Given the description of an element on the screen output the (x, y) to click on. 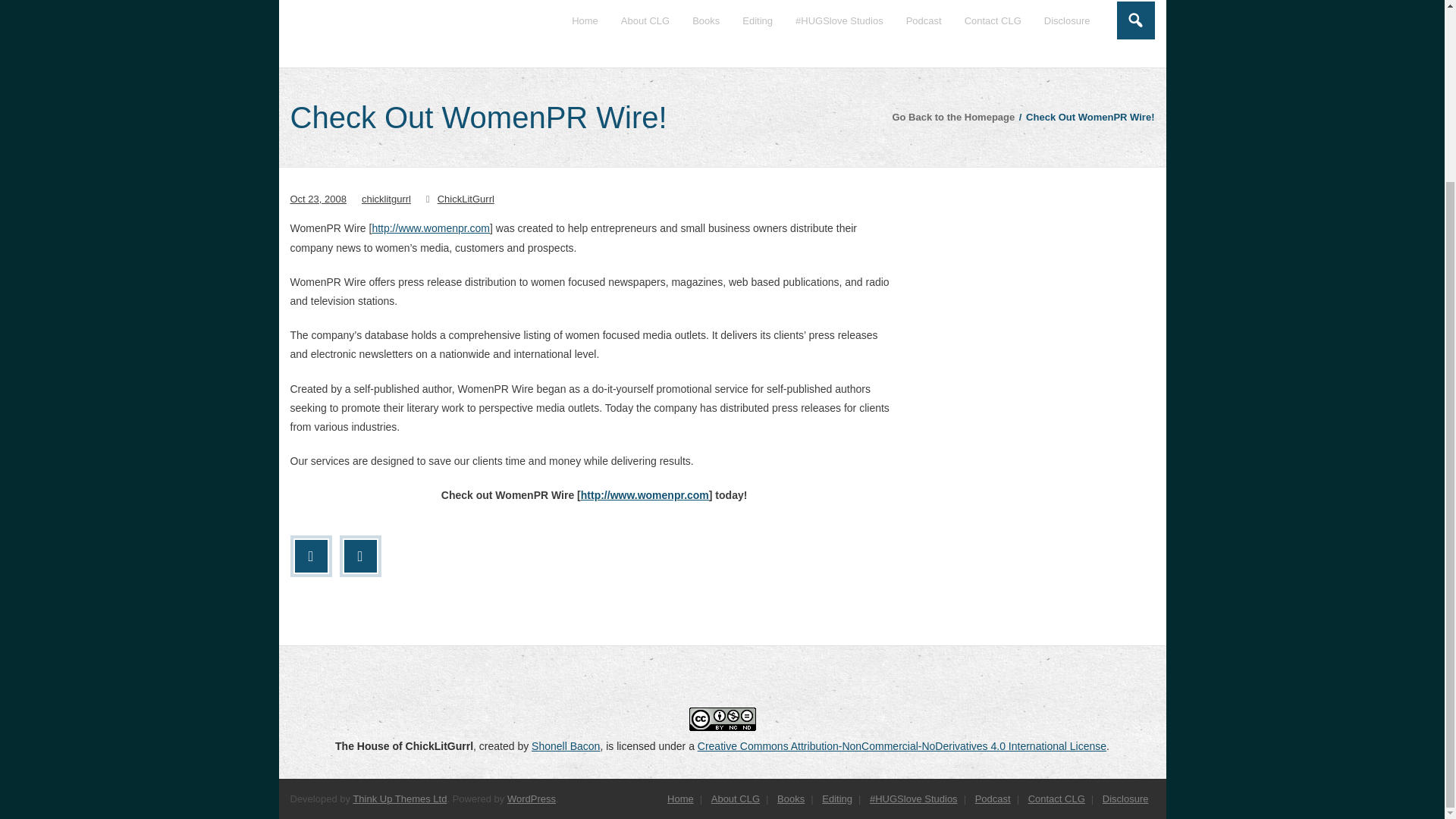
ChickLitGurrl (466, 198)
Think Up Themes Ltd (399, 798)
WordPress (531, 798)
Oct 23, 2008 (317, 198)
View all posts by chicklitgurrl (385, 198)
Books (790, 798)
About CLG (645, 33)
Home (680, 798)
Check Out WomenPR Wire! (317, 198)
